Given the description of an element on the screen output the (x, y) to click on. 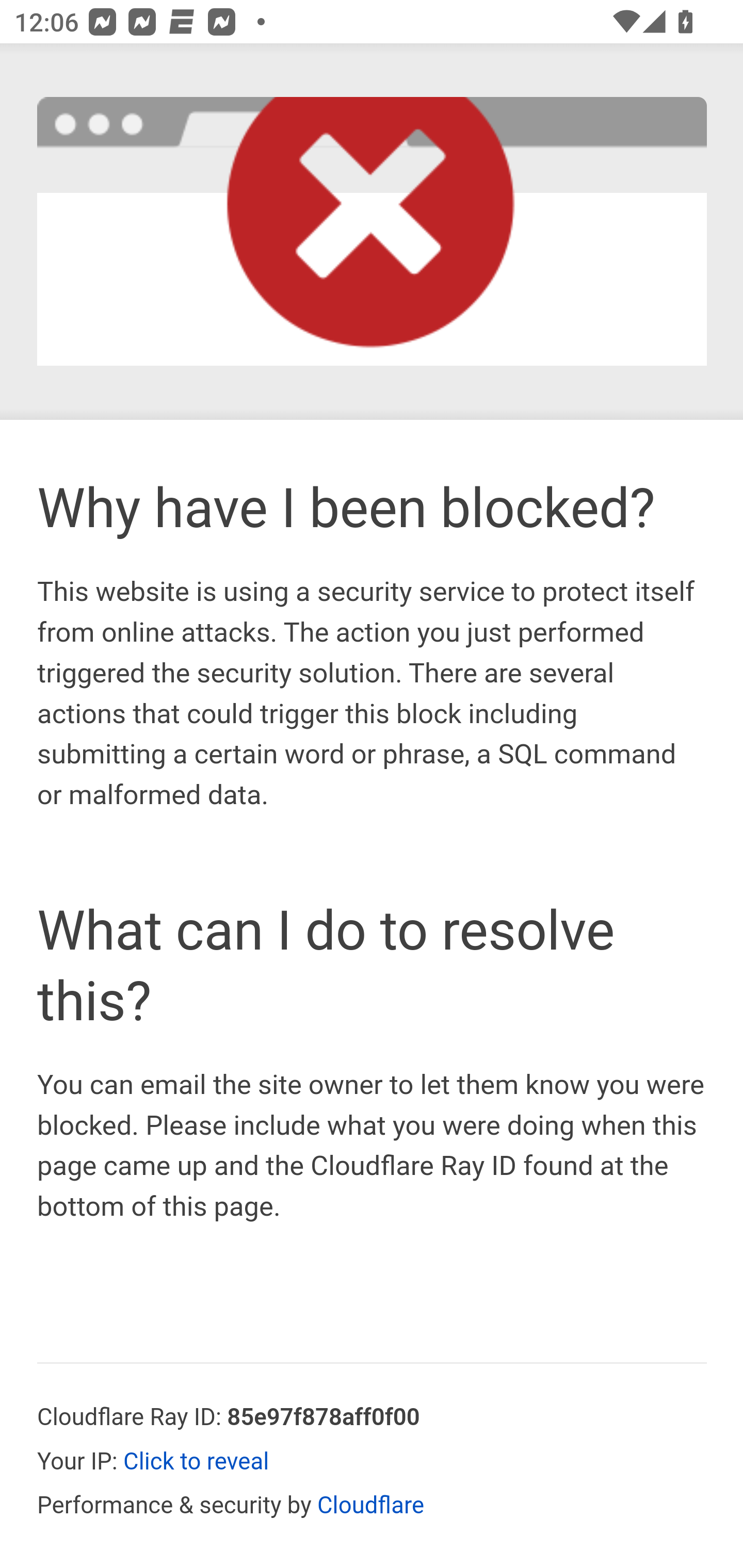
Click to reveal (196, 1462)
Cloudflare (370, 1506)
